Given the description of an element on the screen output the (x, y) to click on. 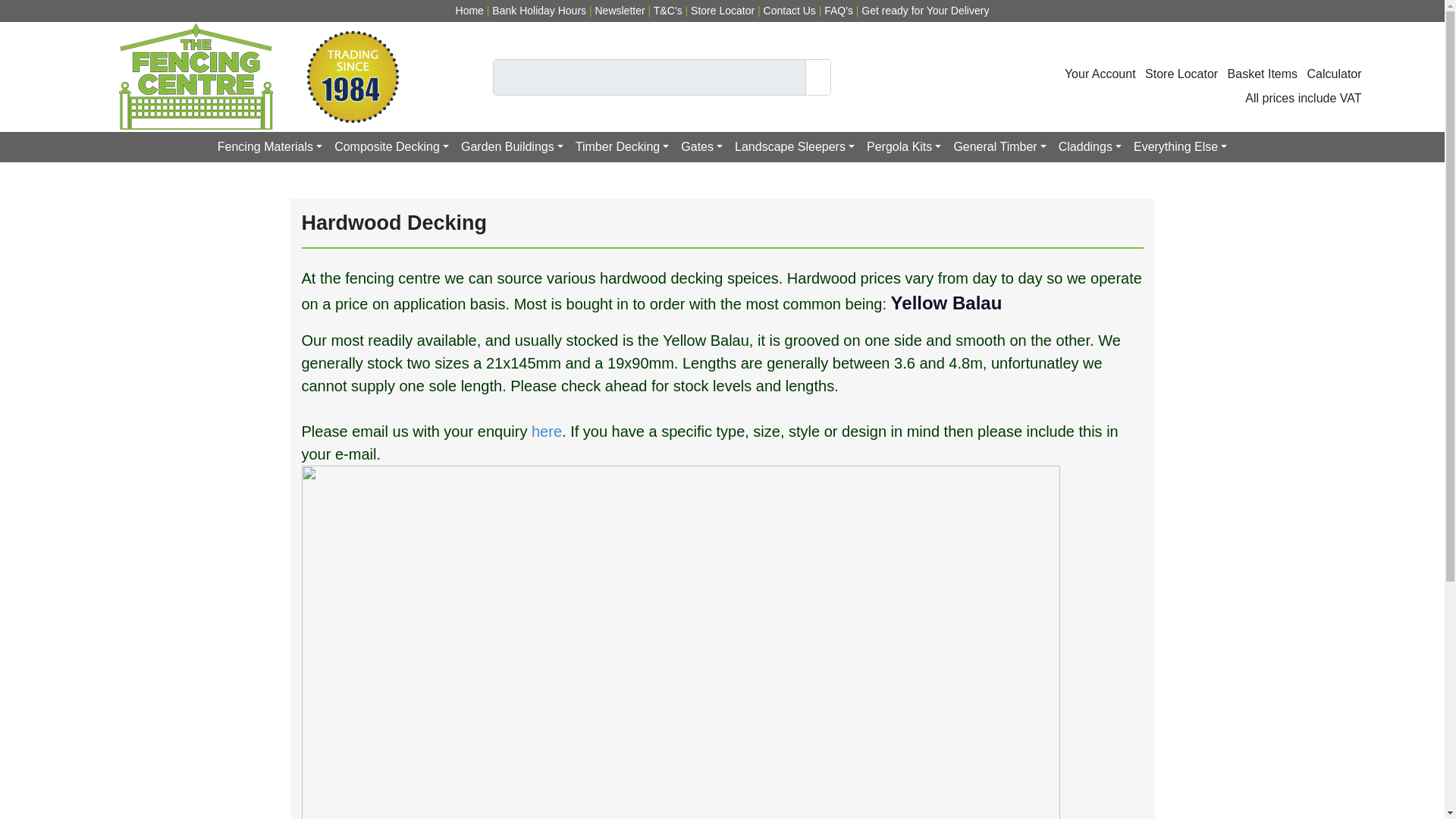
Composite Decking (391, 146)
Bank Holiday Hours (540, 10)
Your Account (1099, 81)
Basket Items (1262, 81)
Newsletter (619, 10)
FAQ's (838, 10)
Fencing Materials (270, 146)
Get ready for Your Delivery (924, 10)
Home (469, 10)
Contact Us (790, 10)
Store Locator (723, 10)
Calculator (1334, 81)
Garden Buildings (511, 146)
Store Locator (1180, 81)
